Given the description of an element on the screen output the (x, y) to click on. 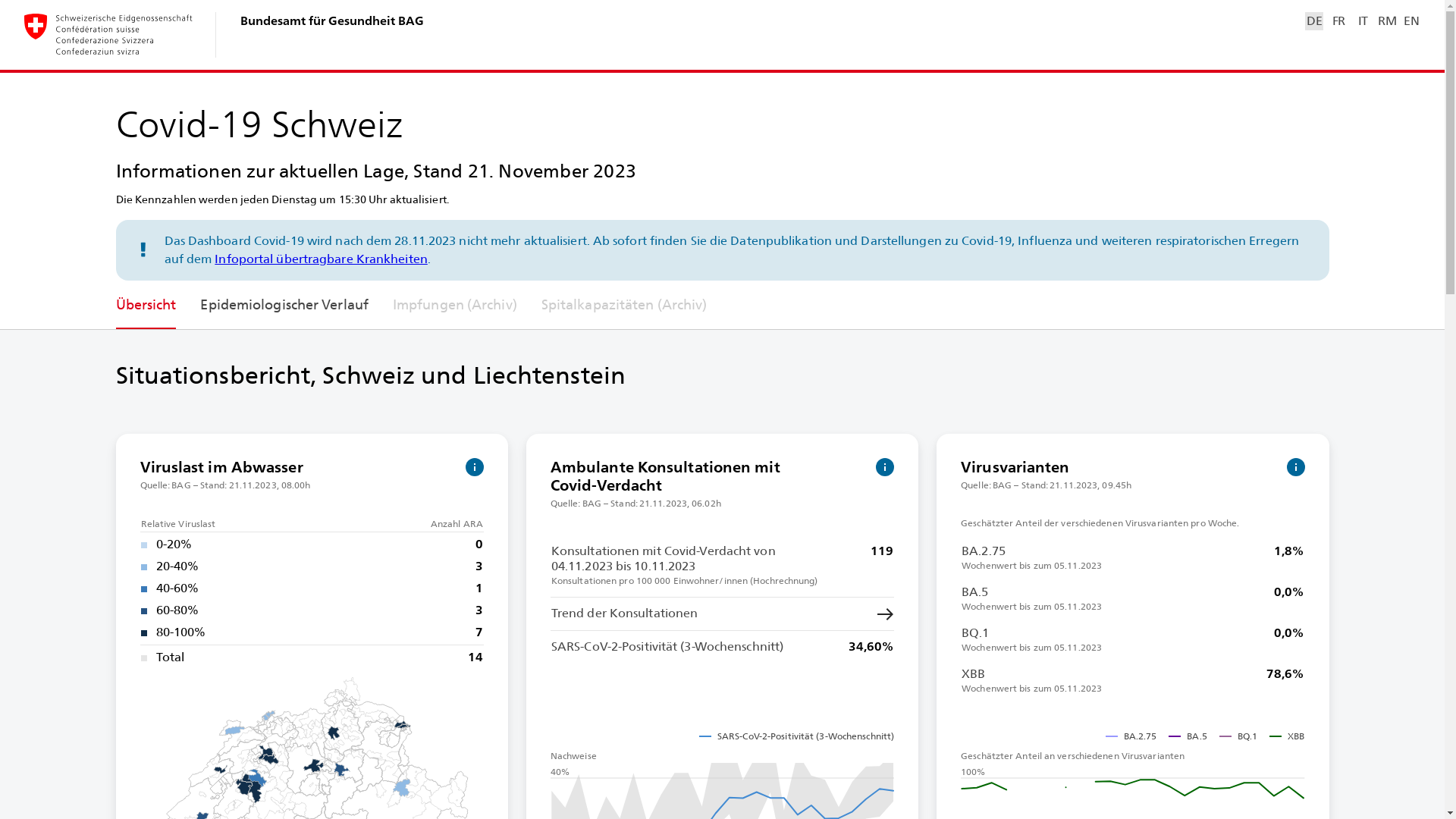
Beschreibungen einblenden Element type: text (1295, 467)
Zur Startseite Element type: text (109, 34)
Epidemiologischer Verlauf Element type: text (284, 304)
RM Element type: text (1386, 21)
FR Element type: text (1338, 21)
Impfungen (Archiv) Element type: text (454, 304)
DE Element type: text (1314, 21)
IT Element type: text (1362, 21)
Beschreibungen einblenden Element type: text (884, 467)
Beschreibungen einblenden Element type: text (474, 467)
EN Element type: text (1411, 21)
